Given the description of an element on the screen output the (x, y) to click on. 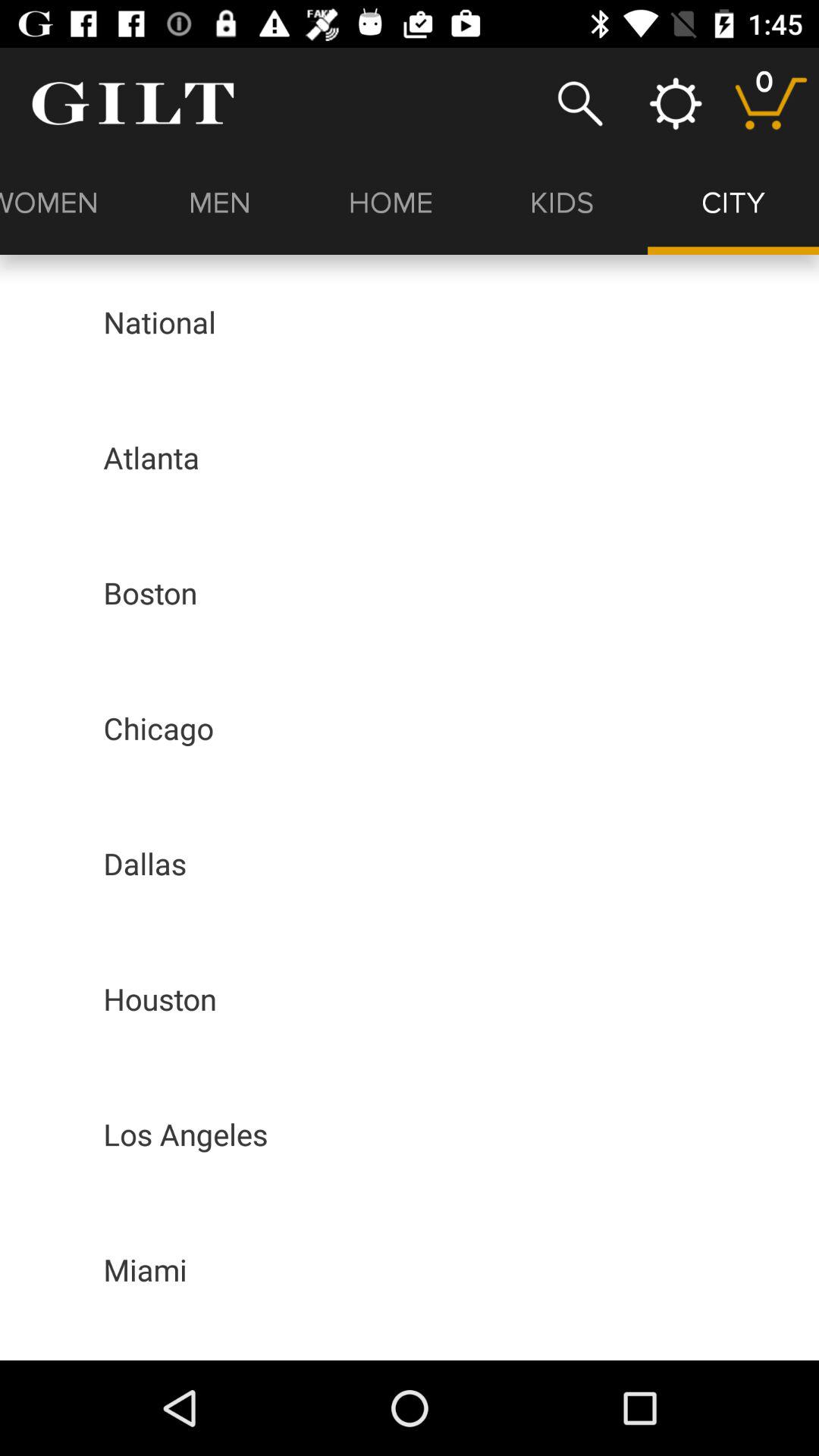
view cart (771, 103)
